Given the description of an element on the screen output the (x, y) to click on. 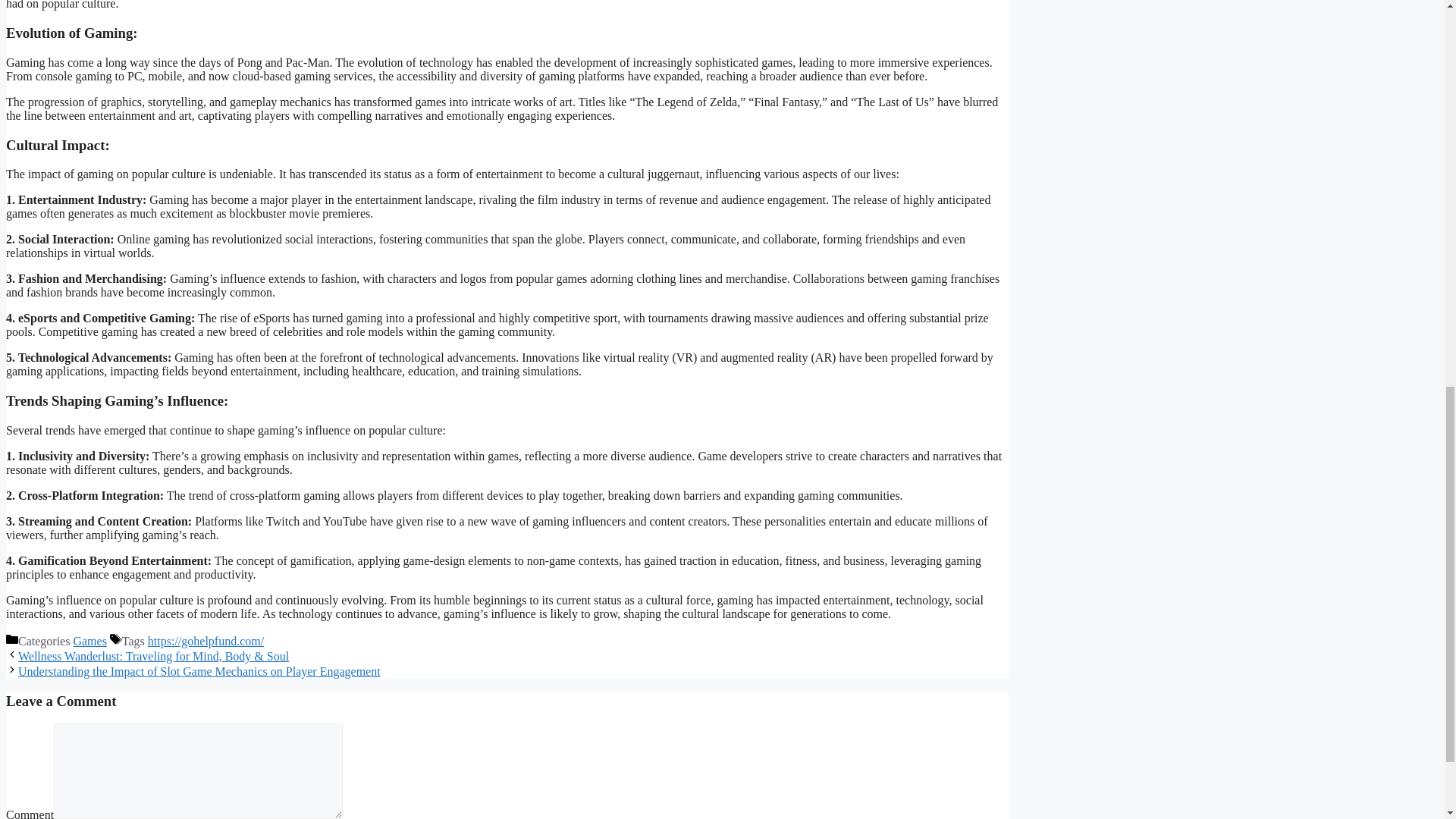
Games (89, 640)
